Given the description of an element on the screen output the (x, y) to click on. 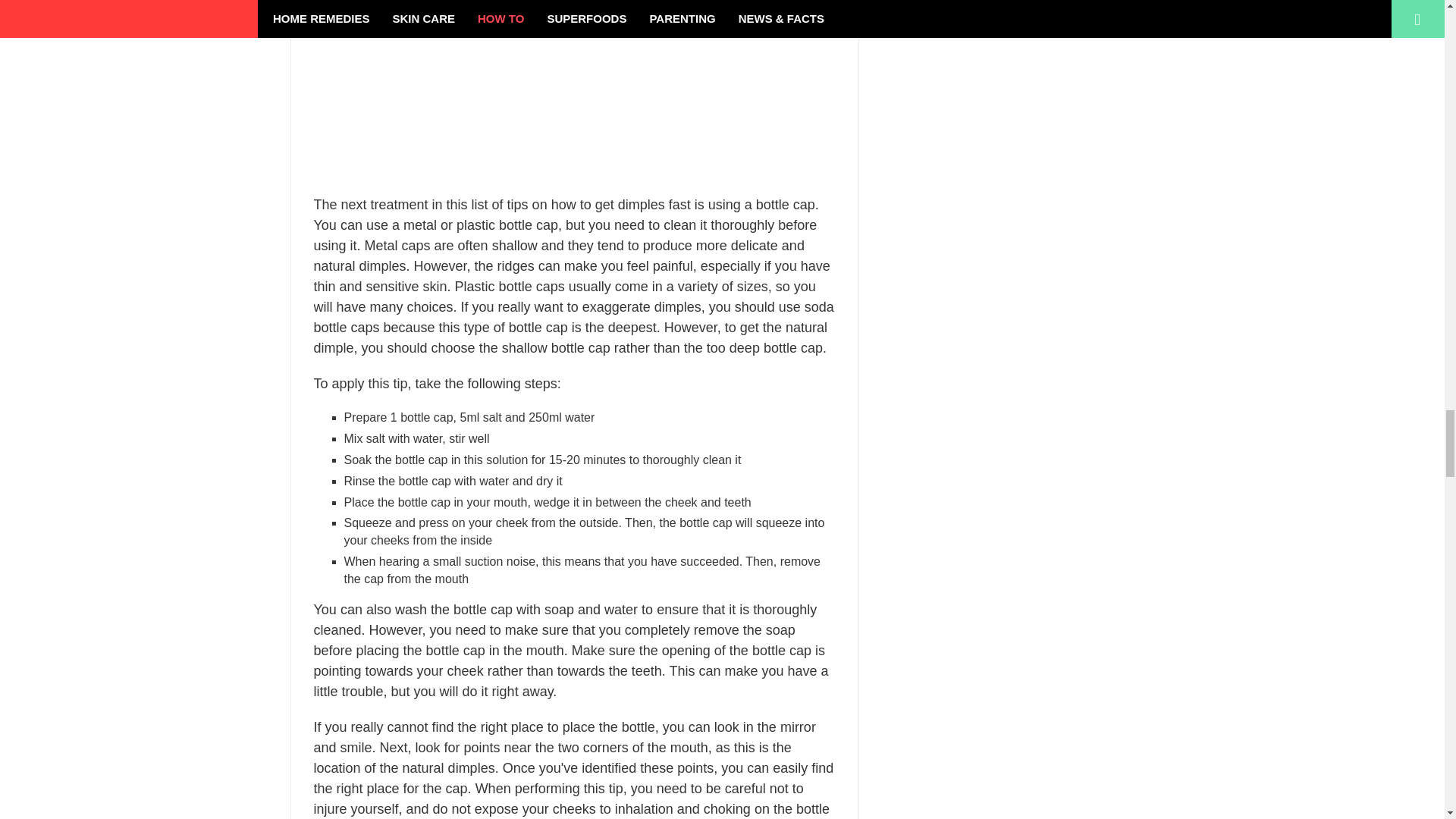
how to get dimples fast - use a bottle cap (574, 89)
